Given the description of an element on the screen output the (x, y) to click on. 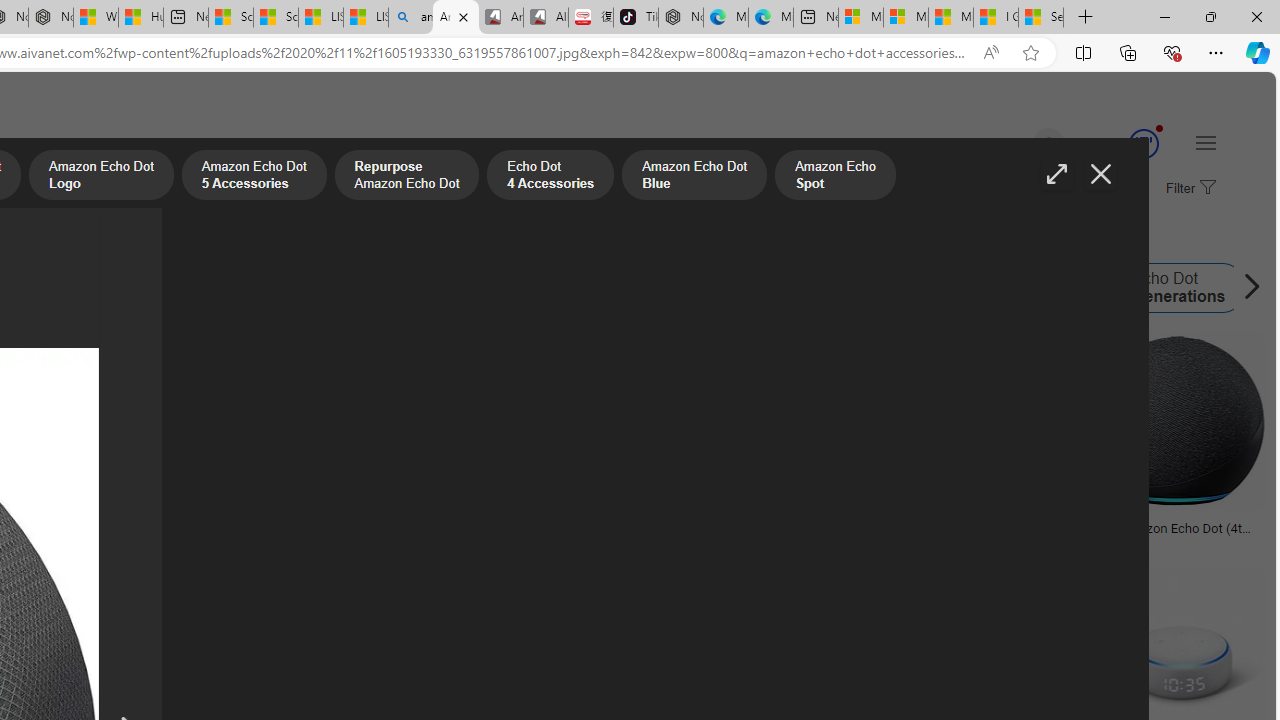
Filter (1188, 189)
Eugene (1019, 143)
I Gained 20 Pounds of Muscle in 30 Days! | Watch (995, 17)
Amazon Echo Plus (525, 287)
tpsearchtool.com (976, 542)
pngkey.com (544, 541)
Amazon Echo Dot Blue (693, 177)
Alexa Echo Png Pic Png Arts Imagestpsearchtool.comSave (347, 444)
Echo Dot 4 Accessories (550, 177)
Amazon Echo Dot PNG - Search Images (455, 17)
